Given the description of an element on the screen output the (x, y) to click on. 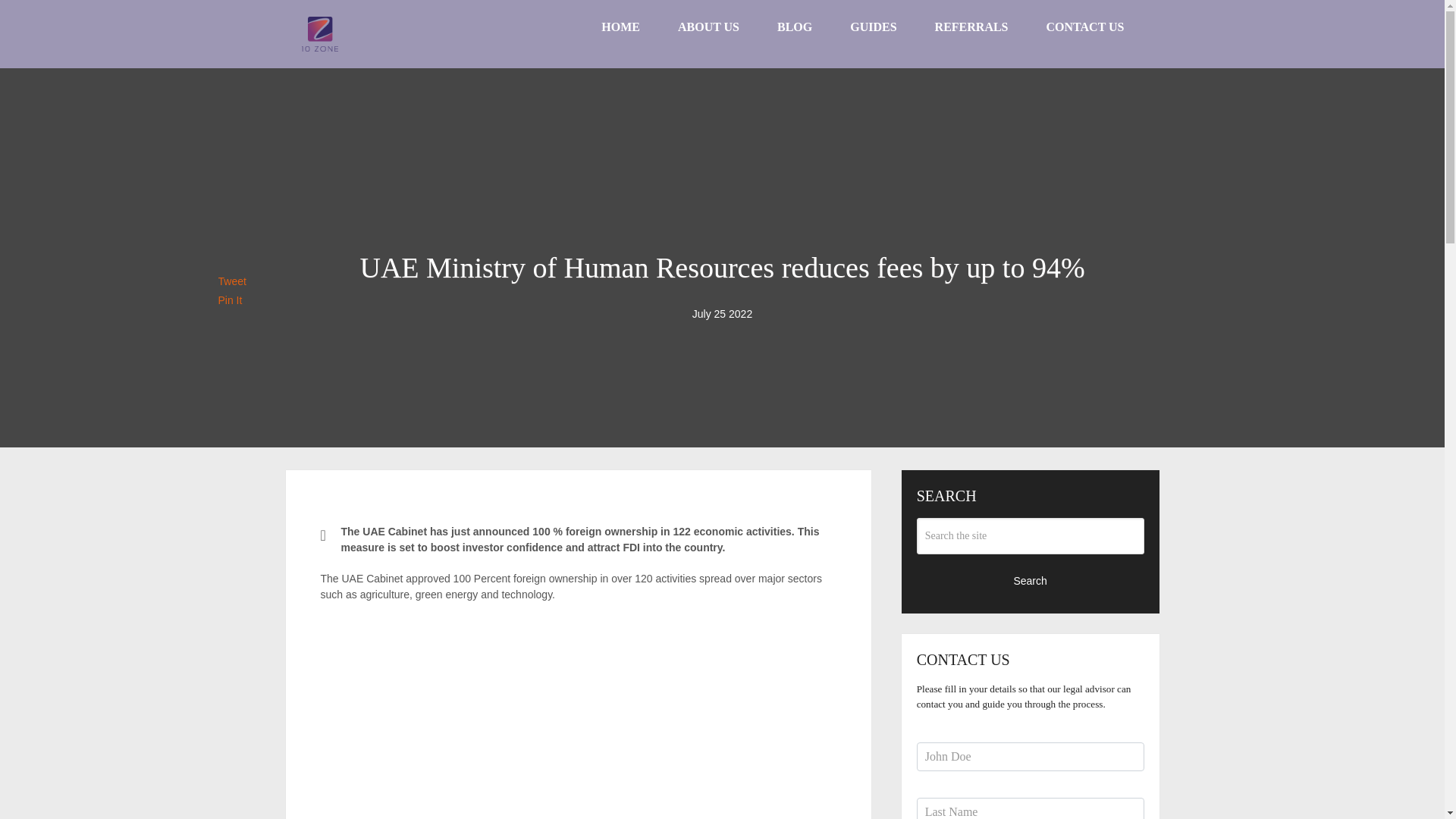
ABOUT US (708, 27)
Tweet (232, 281)
Search (1030, 579)
GUIDES (873, 27)
Pin It (230, 300)
HOME (620, 27)
REFERRALS (971, 27)
BLOG (794, 27)
CONTACT US (1084, 27)
